Given the description of an element on the screen output the (x, y) to click on. 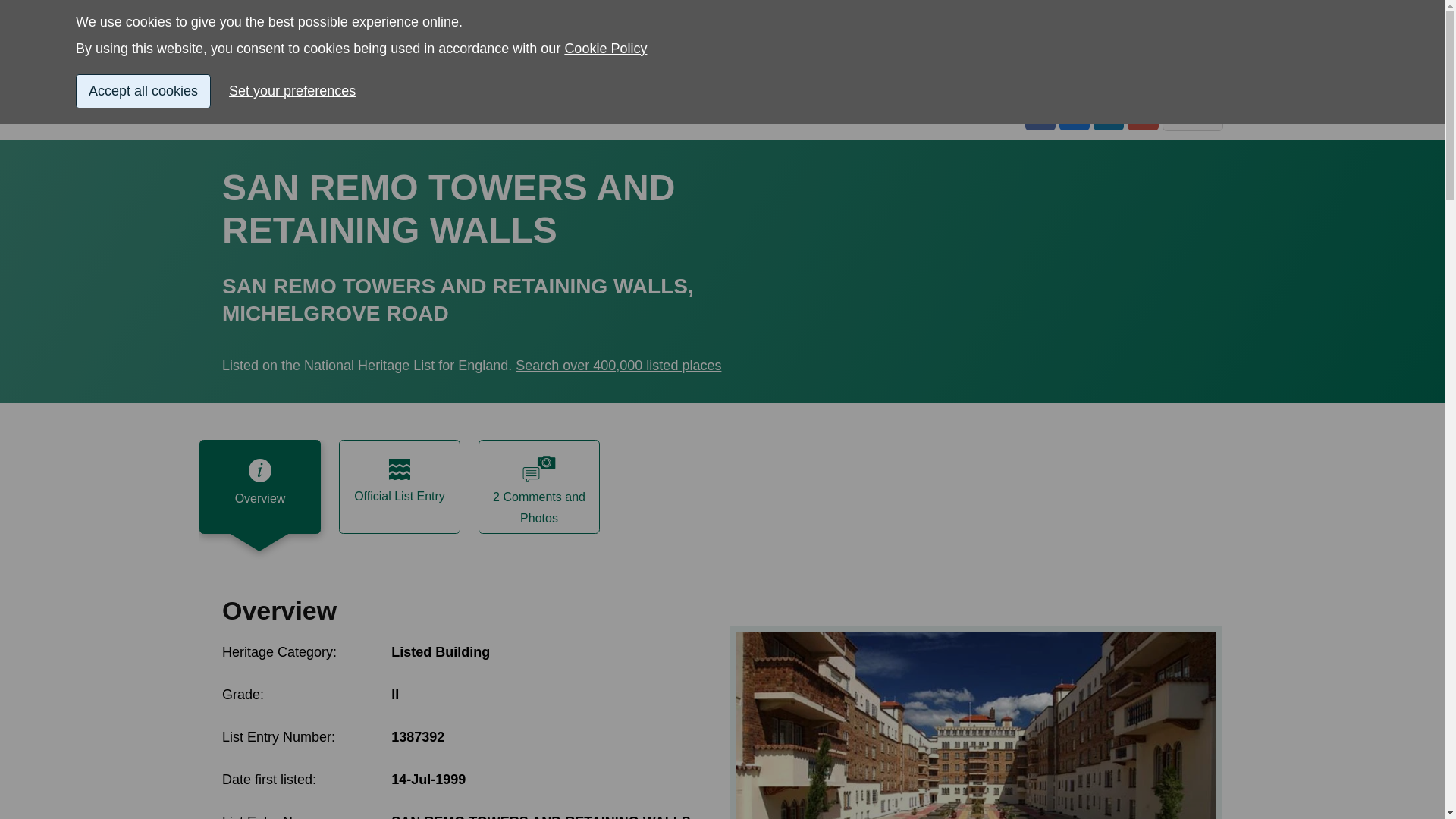
Set your preferences (298, 66)
Search the site (1150, 36)
Print this page (1192, 115)
Cookie Policy (605, 2)
Share this page on Twitter (1073, 114)
Search Historic England (1150, 36)
Share this page by Email (1141, 114)
Share this page on LinkedIn (1108, 114)
About Us (1197, 82)
Share this page on Facebook (1040, 114)
Research (513, 82)
Sign in (1032, 36)
Historic England - home page (299, 36)
What's New (1042, 82)
Listing (239, 82)
